Given the description of an element on the screen output the (x, y) to click on. 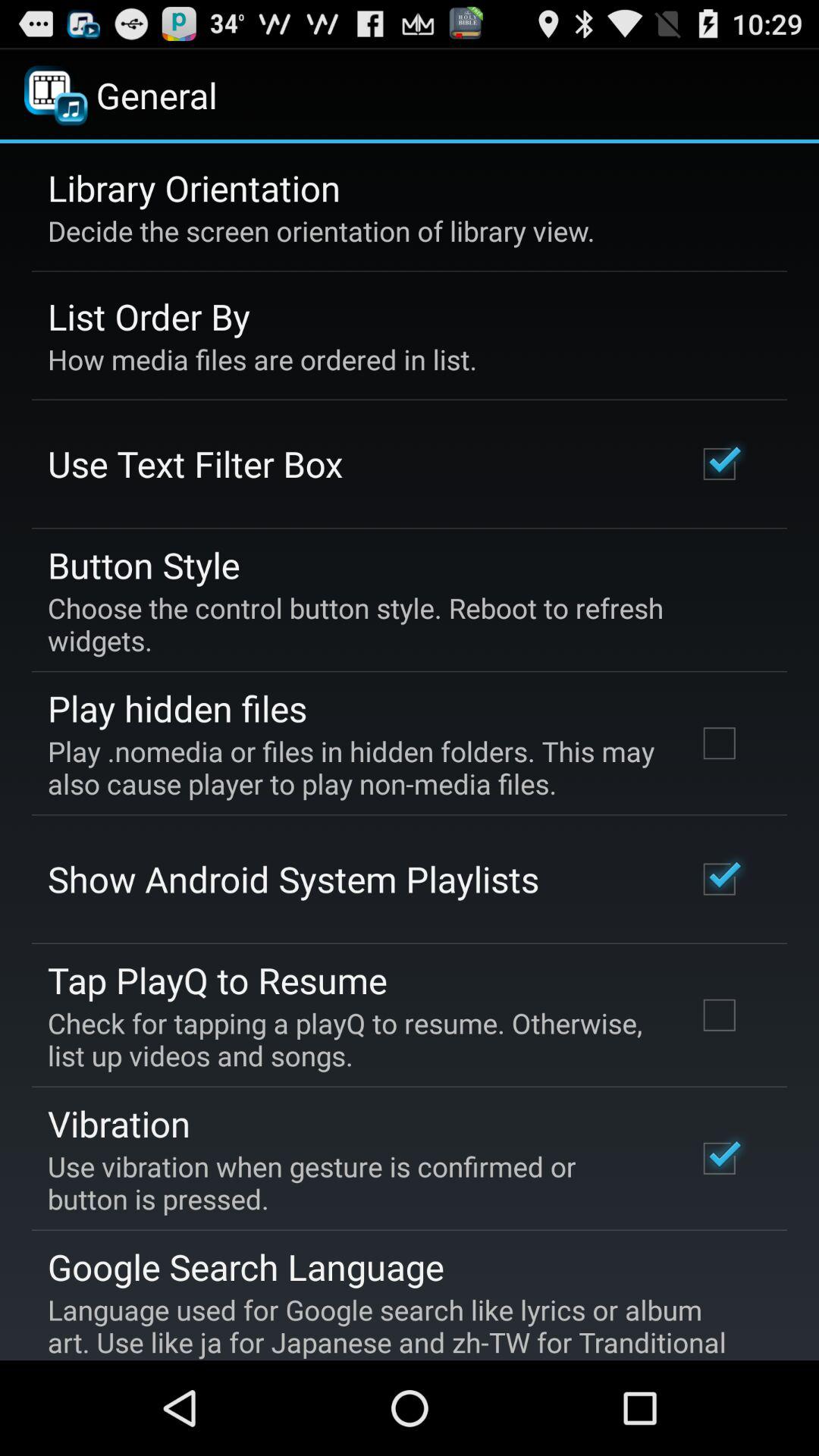
open the app above the vibration icon (351, 1039)
